Given the description of an element on the screen output the (x, y) to click on. 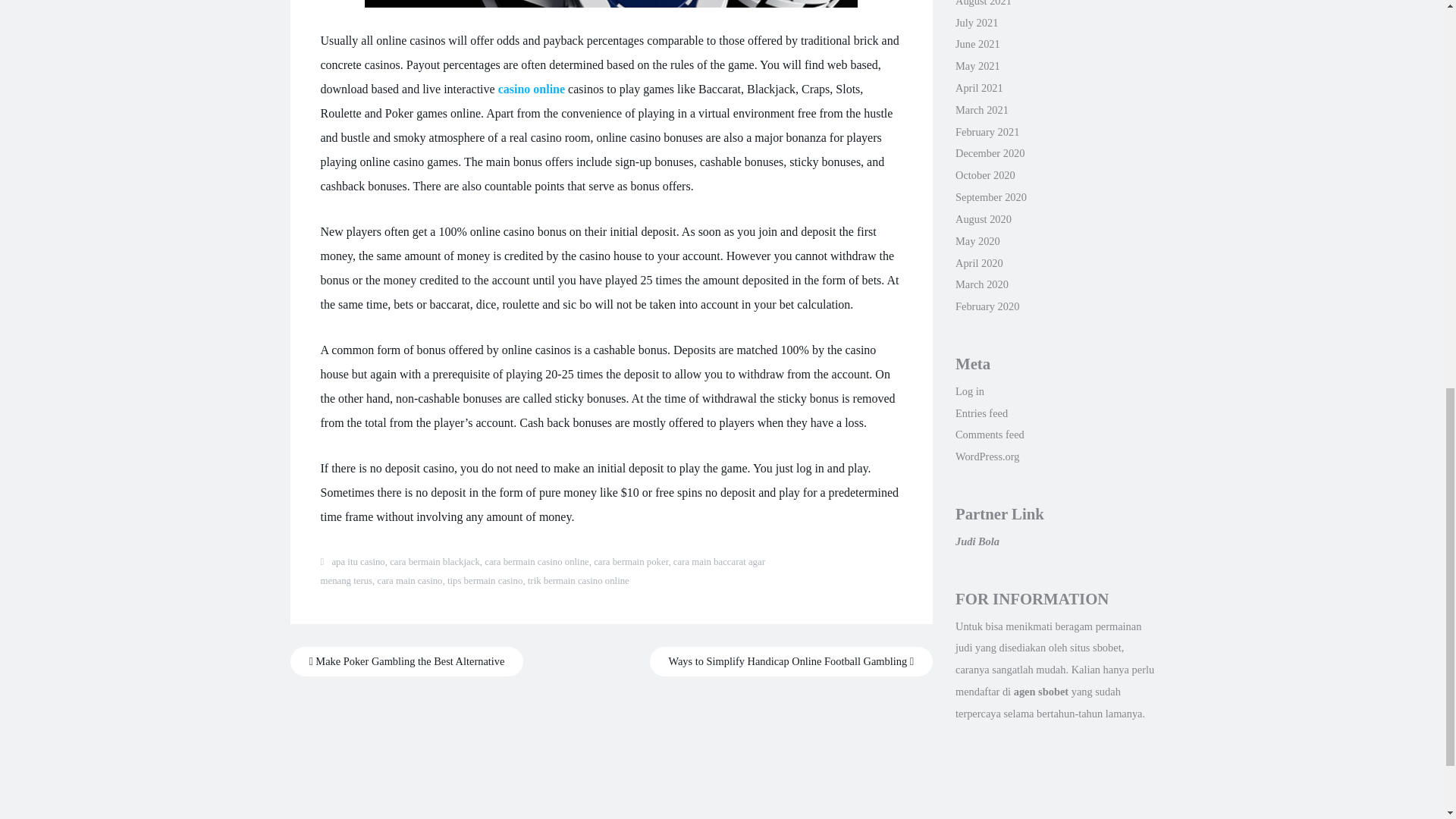
casino online (530, 88)
trik bermain casino online (577, 580)
cara bermain casino online (536, 561)
tips bermain casino (484, 580)
Ways to Simplify Handicap Online Football Gambling (791, 661)
August 2021 (983, 3)
July 2021 (976, 22)
June 2021 (977, 43)
apa itu casino (357, 561)
Make Poker Gambling the Best Alternative (405, 661)
